Given the description of an element on the screen output the (x, y) to click on. 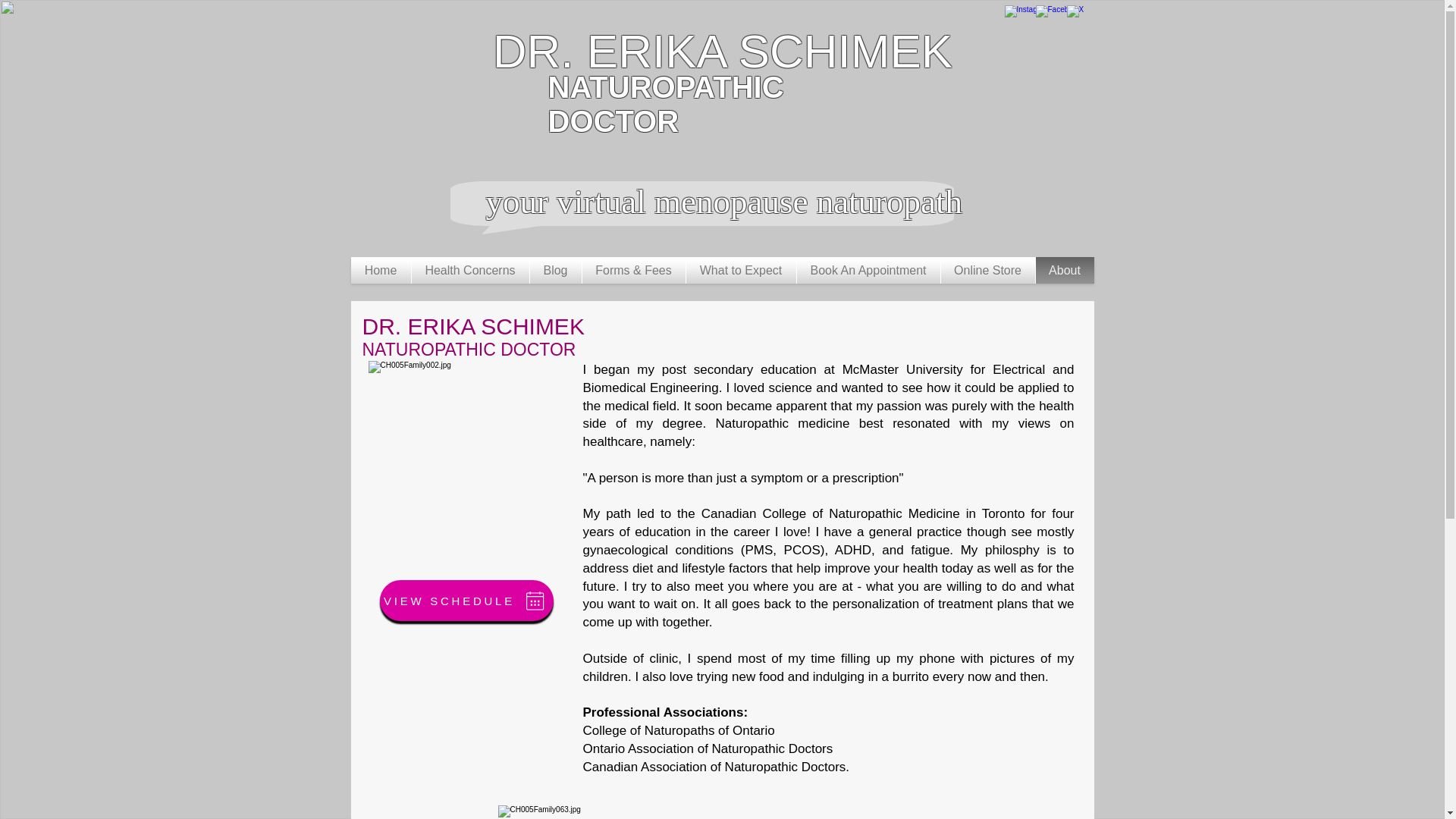
Blog (554, 270)
DR. ERIKA SCHIMEK (722, 50)
VIEW SCHEDULE (465, 599)
Health Concerns (469, 270)
Online Store (986, 270)
Home (380, 270)
Book An Appointment (867, 270)
What to Expect (739, 270)
About (1064, 270)
